Given the description of an element on the screen output the (x, y) to click on. 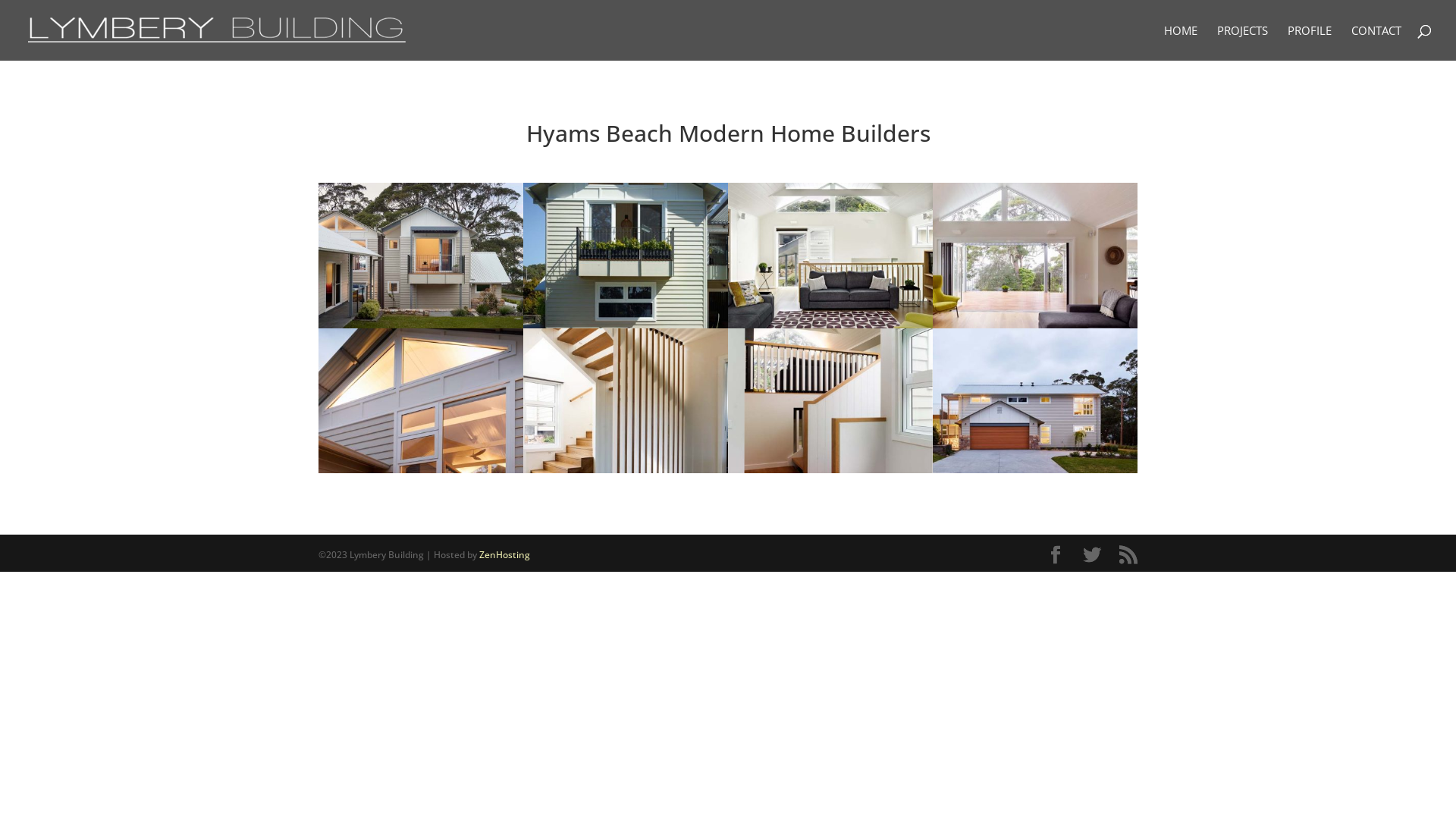
Hyams Beach Home 6 Element type: hover (420, 472)
CONTACT Element type: text (1376, 42)
Hyams Beach Home 9 Element type: hover (1034, 472)
Hyams Beach Home 5 Element type: hover (1034, 327)
HOME Element type: text (1180, 42)
ZenHosting Element type: text (504, 554)
PROJECTS Element type: text (1242, 42)
Hyams Beach Home 1 Element type: hover (420, 327)
PROFILE Element type: text (1309, 42)
Hyams Beach Home 4 Element type: hover (830, 327)
Hyams Beach Home 3 Element type: hover (625, 327)
Hyams Beach Home 7 Element type: hover (625, 472)
Hyams Beach Home 8 Element type: hover (830, 472)
